Given the description of an element on the screen output the (x, y) to click on. 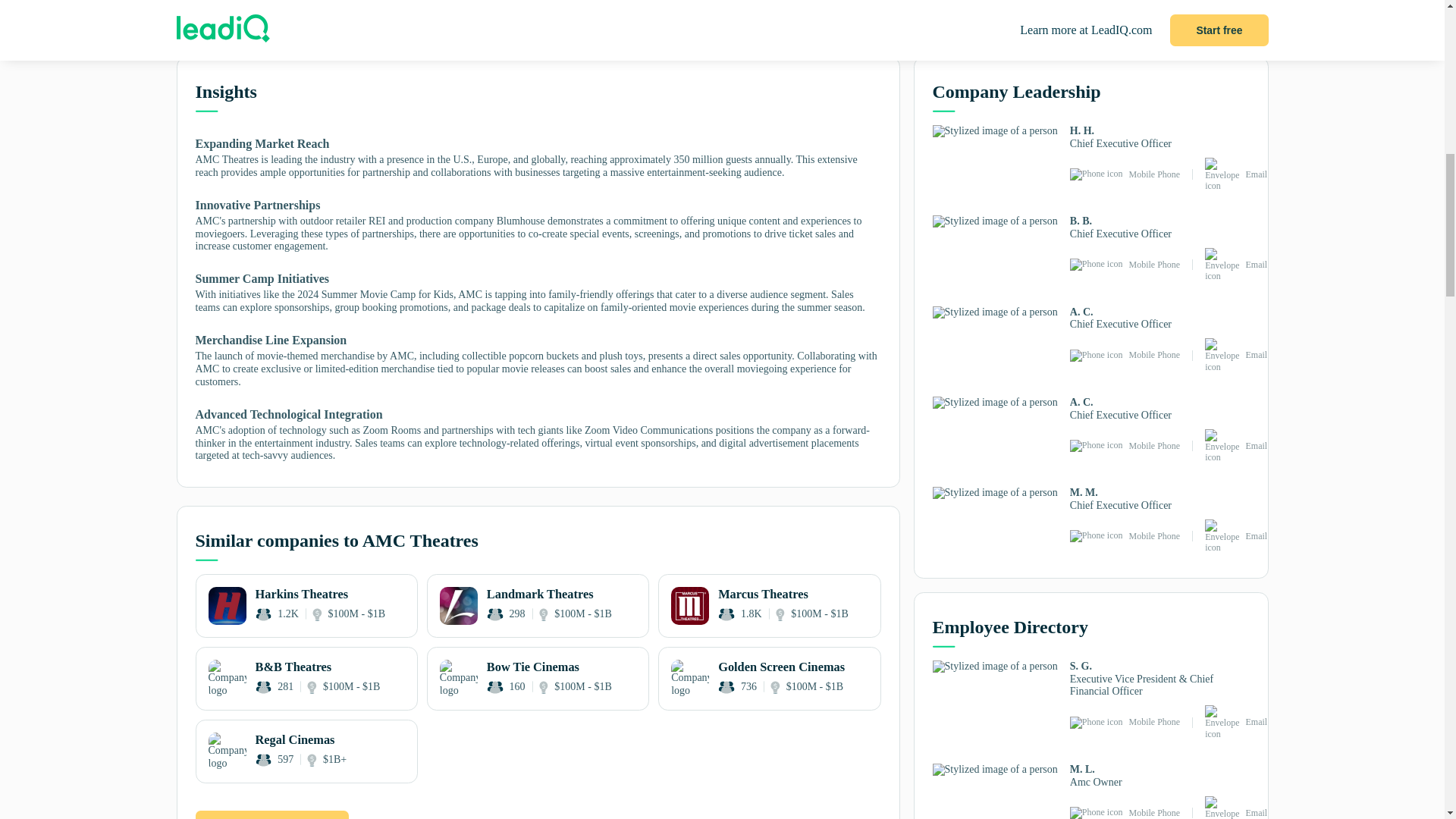
Tech Stack (476, 25)
Insights (236, 26)
Email Format (718, 25)
FAQ (838, 25)
Similar companies (357, 25)
Explore similar companies (272, 814)
